Given the description of an element on the screen output the (x, y) to click on. 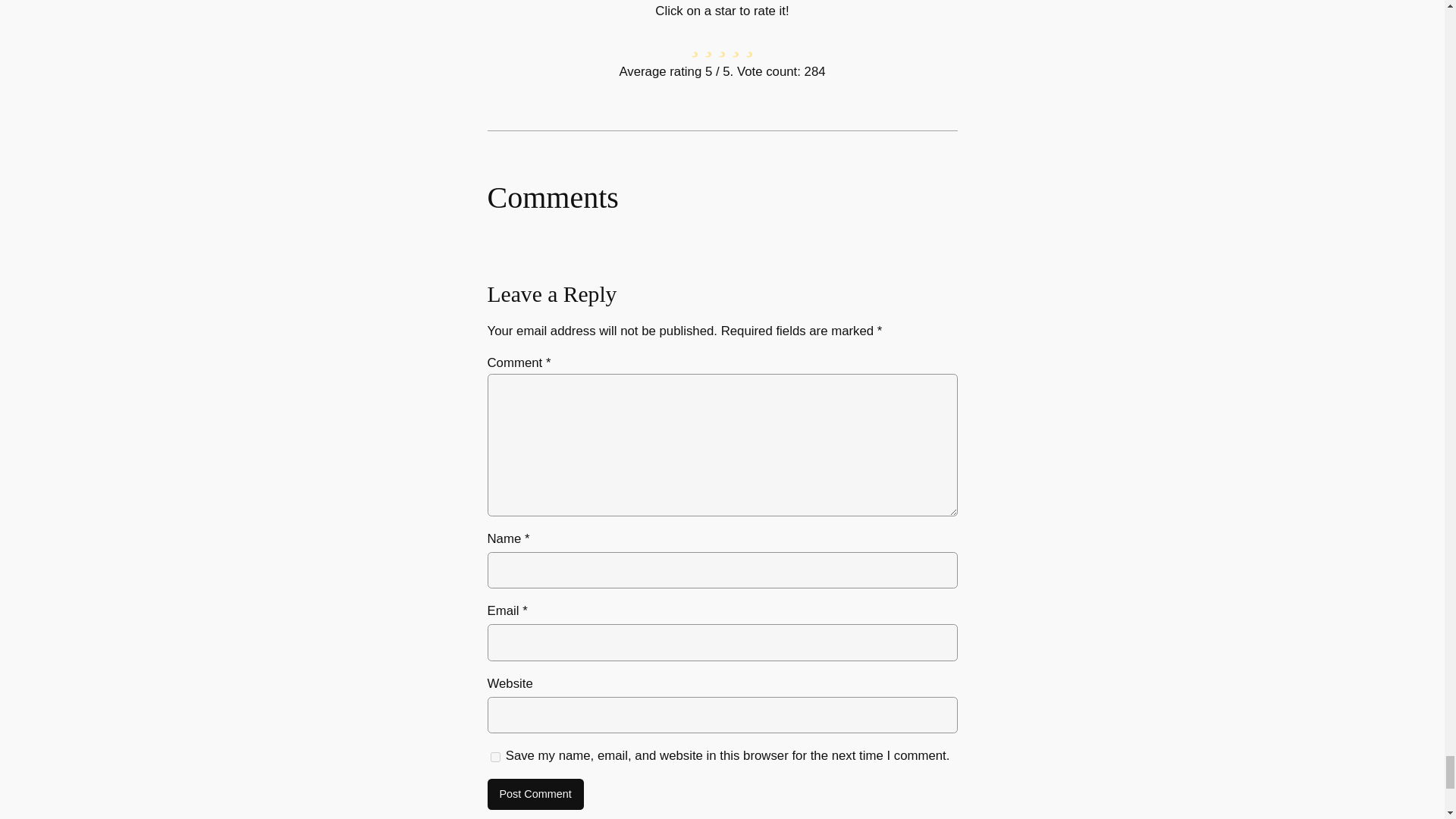
Post Comment (534, 794)
